Given the description of an element on the screen output the (x, y) to click on. 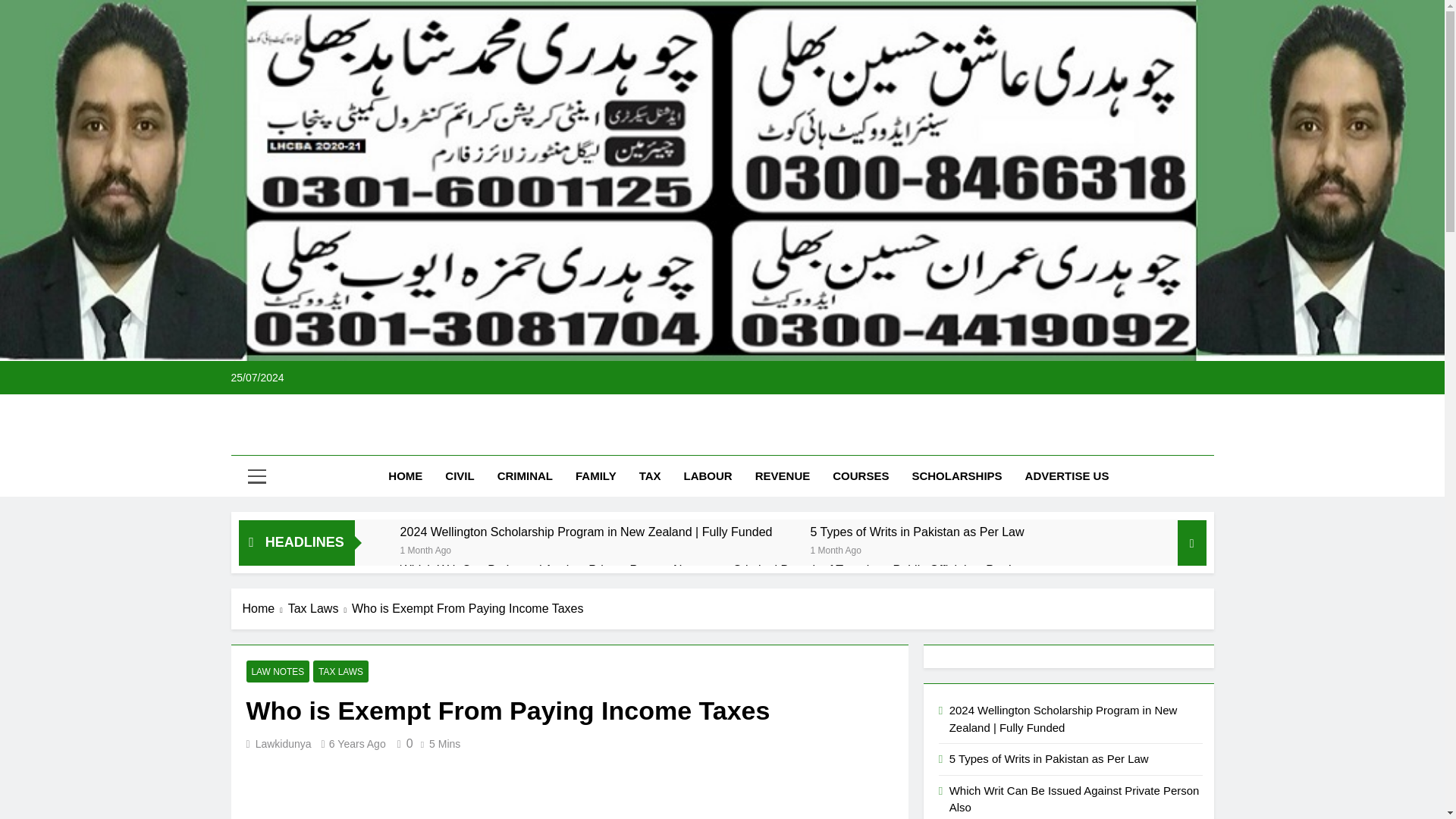
0 (402, 743)
Criminal Breach of Trust by a Public Official as Per Law (881, 569)
Tax Laws (320, 608)
1 Month Ago (425, 549)
COURSES (860, 475)
Criminal Breach of Trust by a Public Official as Per Law (881, 569)
CRIMINAL (525, 475)
LAW NOTES (277, 671)
HOME (405, 475)
FAMILY (595, 475)
REVENUE (783, 475)
TAX (649, 475)
Lawkidunya (283, 743)
6 Years Ago (357, 743)
CIVIL (458, 475)
